Given the description of an element on the screen output the (x, y) to click on. 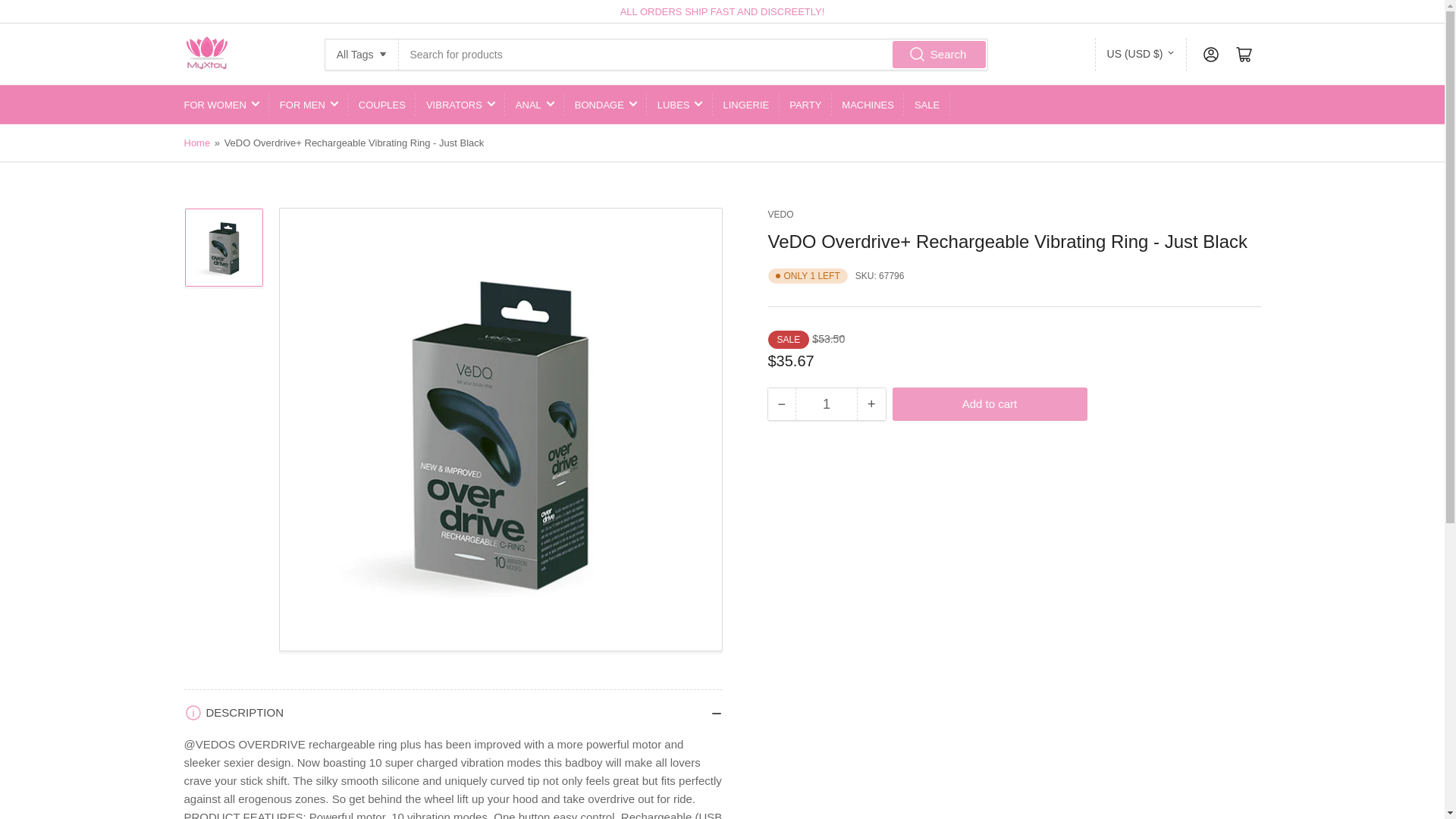
Open mini cart (1243, 54)
Load image 1 in gallery view (223, 259)
Load image 1 in gallery view (223, 429)
1 (825, 404)
VeDO (780, 214)
Search (939, 53)
Log in (1210, 54)
ALL ORDERS SHIP FAST AND DISCREETLY! (722, 11)
